Given the description of an element on the screen output the (x, y) to click on. 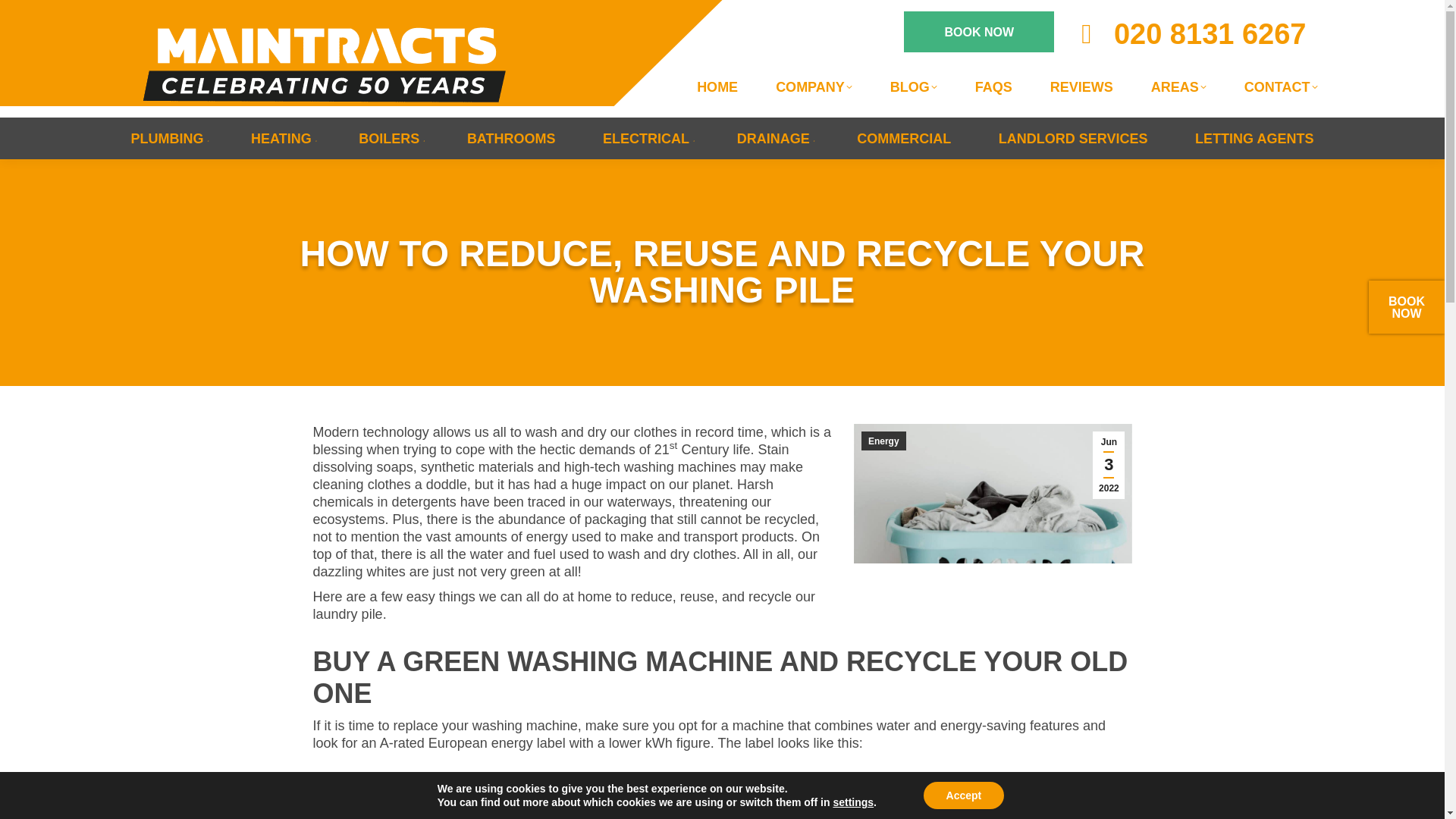
REVIEWS (1081, 87)
BOOK NOW (979, 31)
FAQS (993, 87)
020 8131 6267 (1187, 33)
COMPANY (813, 87)
HOME (717, 87)
AREAS (1179, 87)
laundry (992, 493)
BLOG (913, 87)
